Given the description of an element on the screen output the (x, y) to click on. 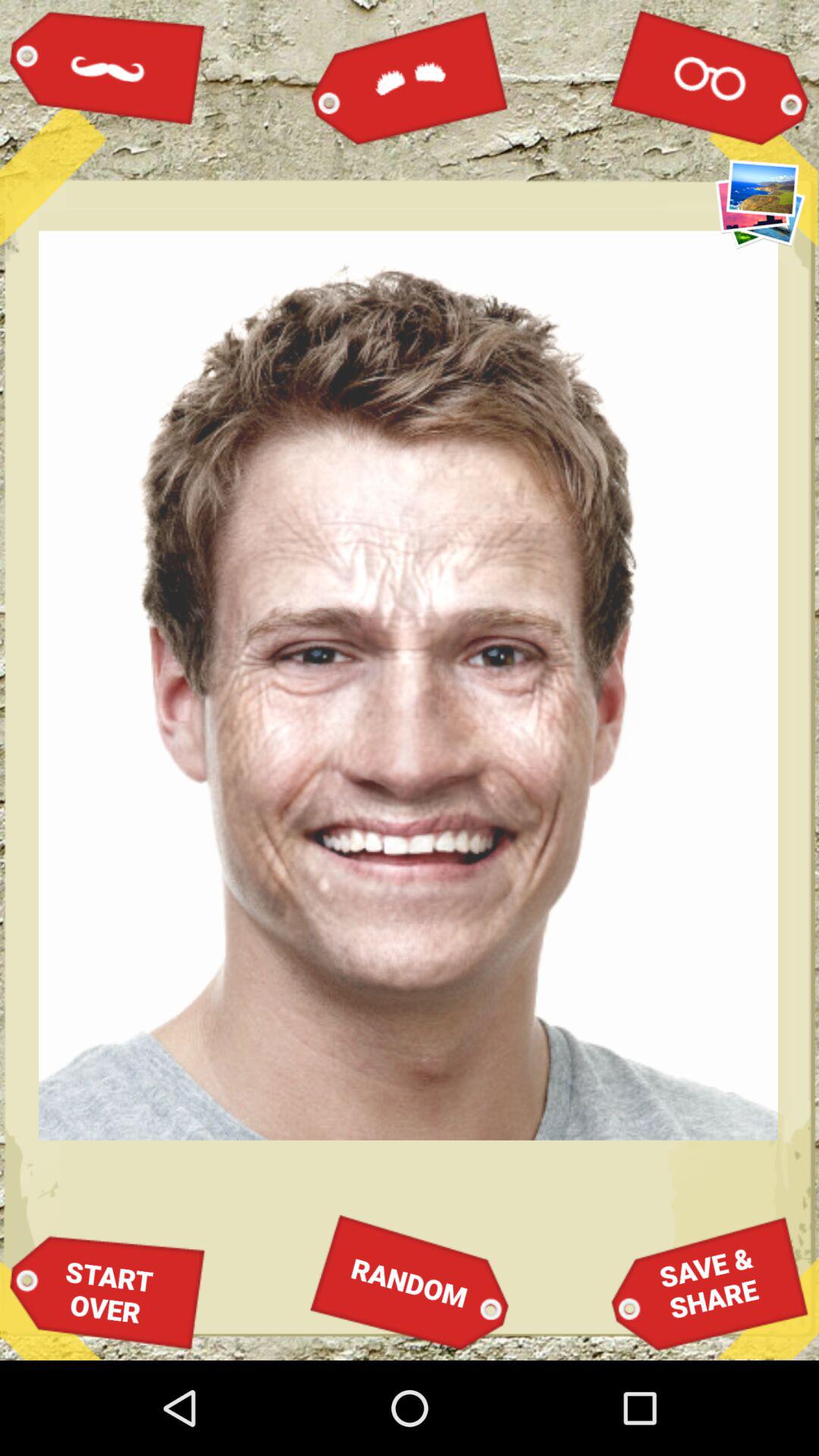
select the item to the left of save &
share (409, 1282)
